Given the description of an element on the screen output the (x, y) to click on. 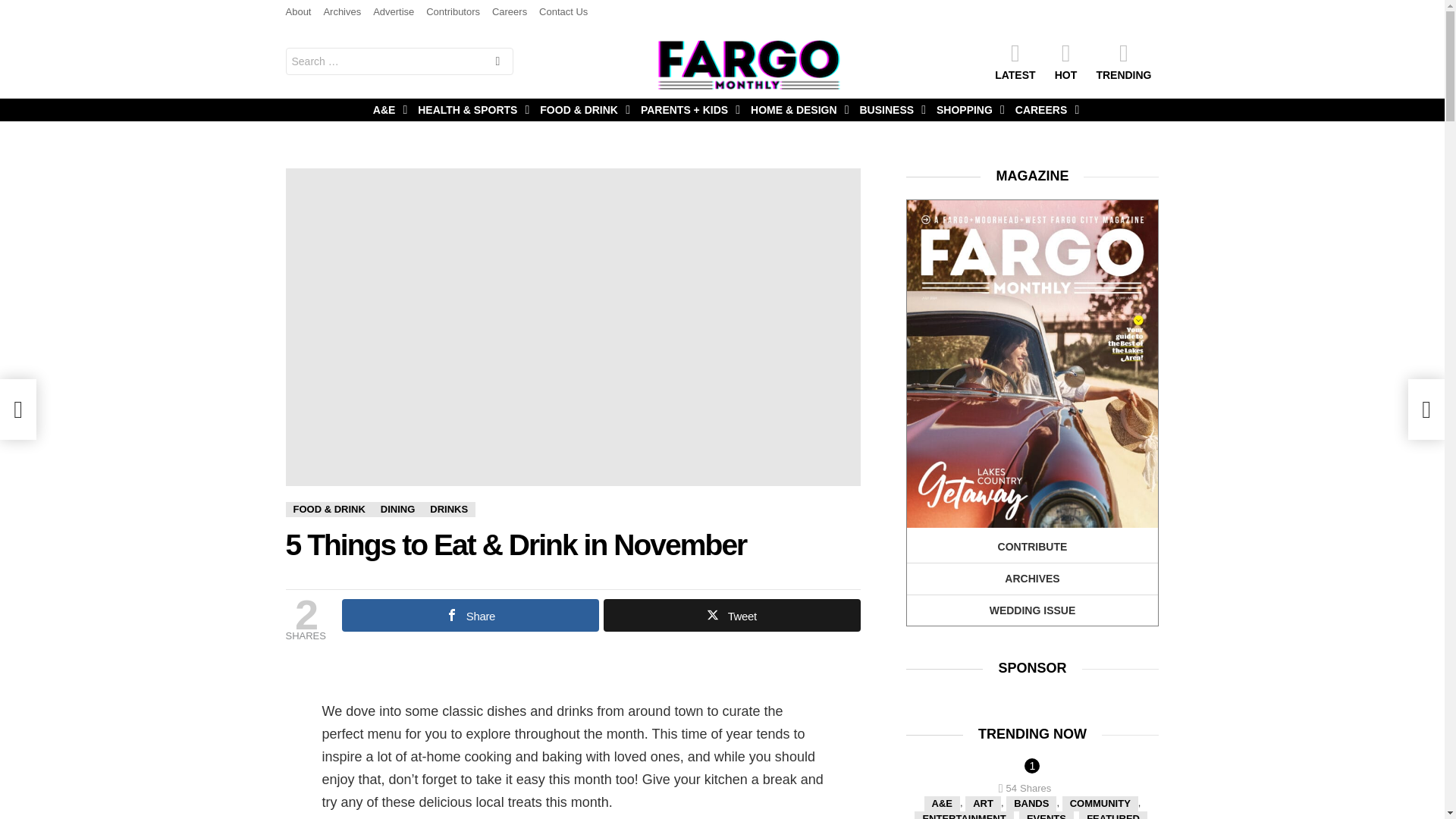
About (298, 12)
HOT (1064, 60)
Contributors (453, 12)
TRENDING (1122, 60)
Contact Us (563, 12)
SEARCH (496, 62)
Advertise (392, 12)
LATEST (1014, 60)
Archives (342, 12)
Search for: (398, 61)
